Given the description of an element on the screen output the (x, y) to click on. 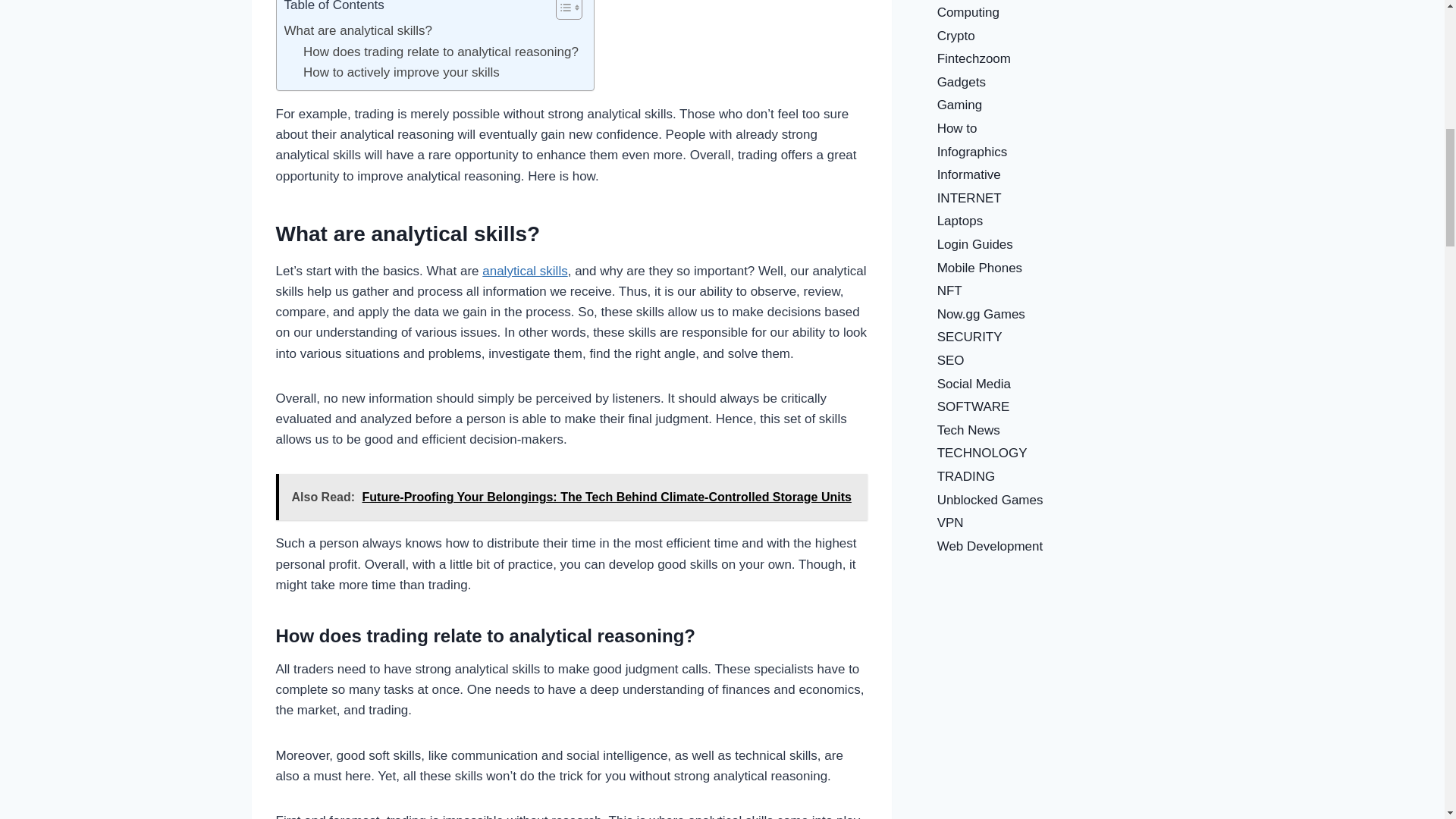
How to actively improve your skills (400, 72)
How does trading relate to analytical reasoning? (440, 51)
What are analytical skills? (357, 30)
